Given the description of an element on the screen output the (x, y) to click on. 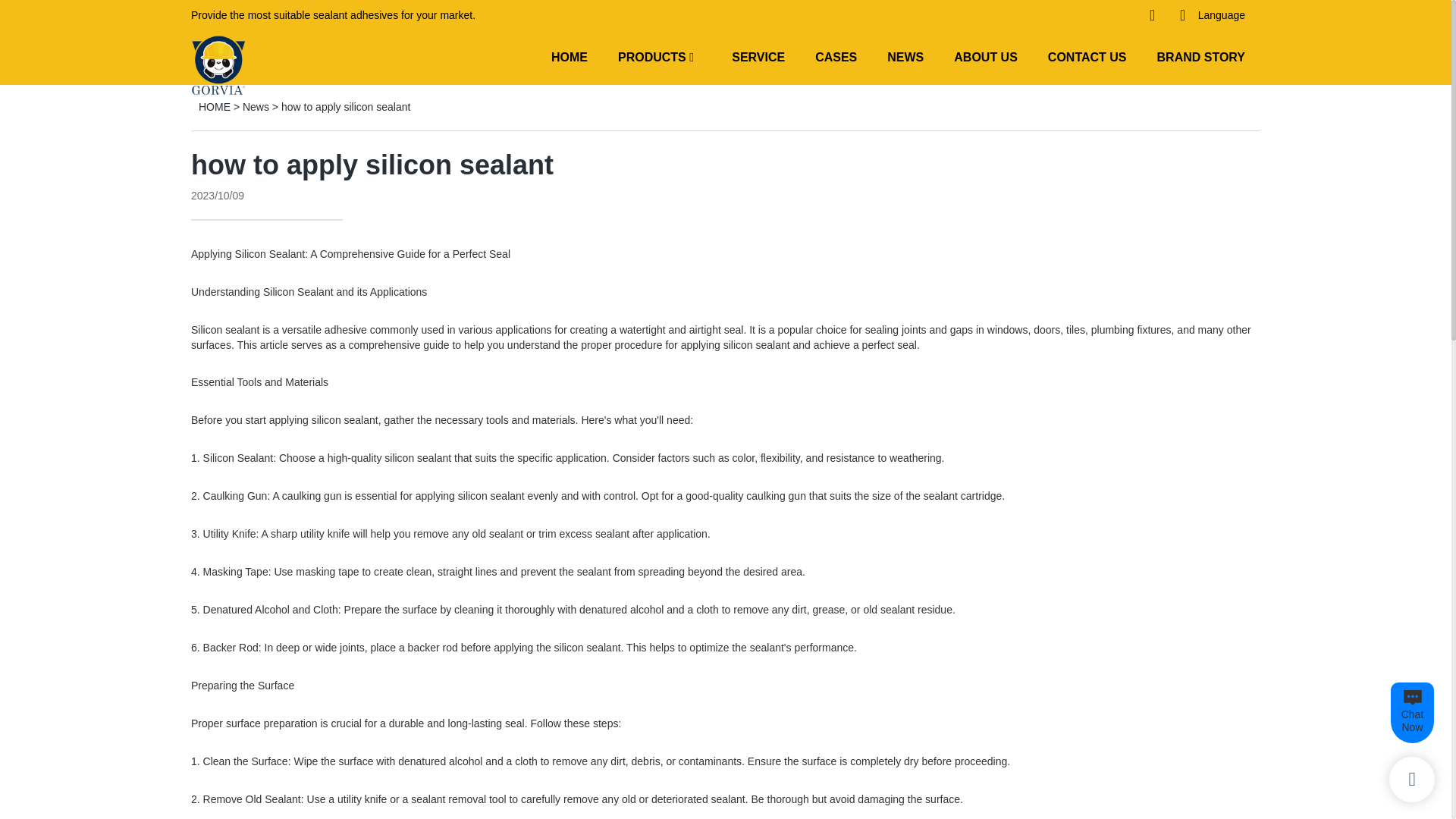
PRODUCTS (651, 56)
HOME (569, 56)
